Given the description of an element on the screen output the (x, y) to click on. 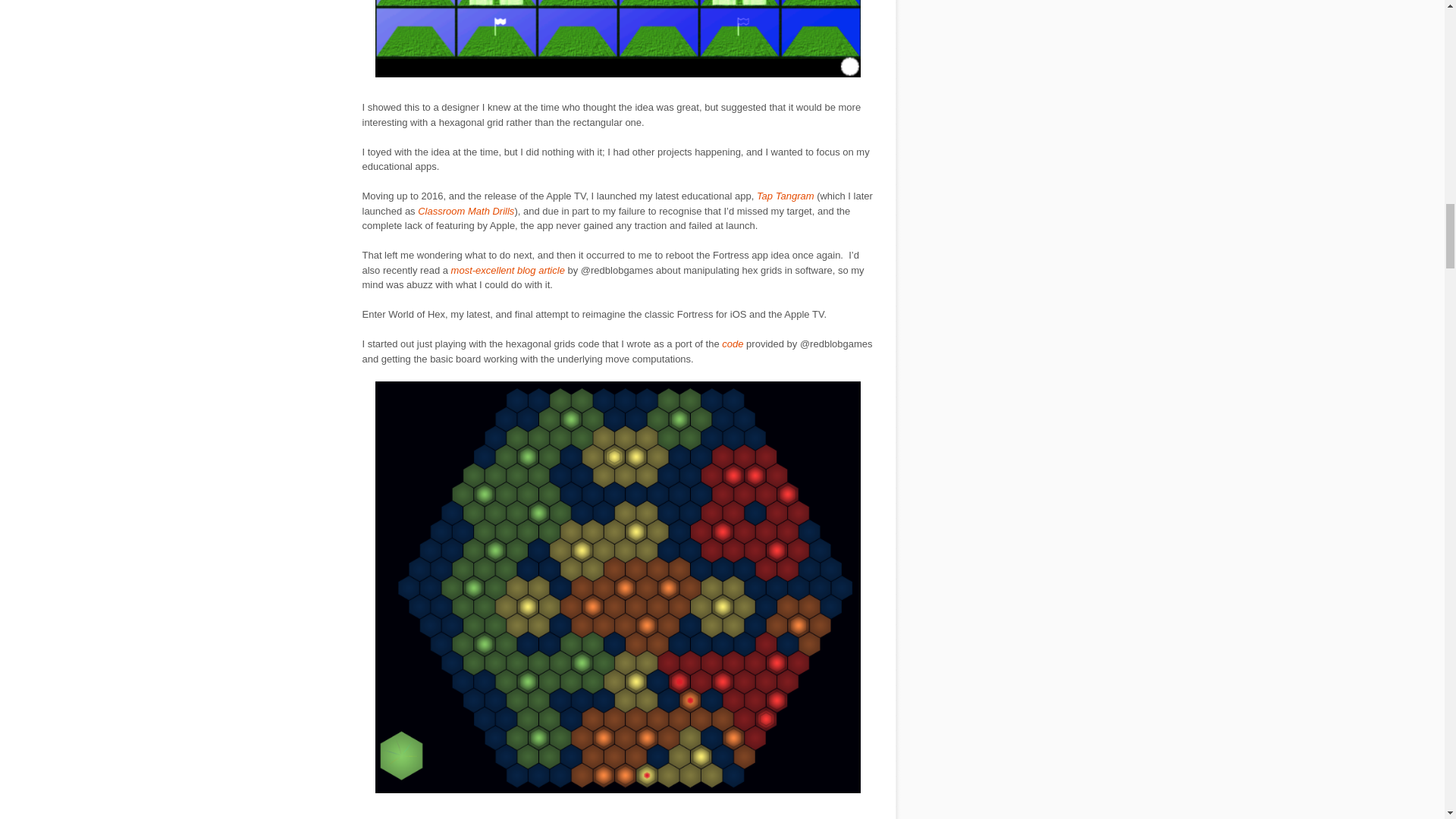
Tap Tangram (785, 195)
most-excellent blog article (507, 270)
code (732, 343)
Classroom Math Drills (465, 211)
